Given the description of an element on the screen output the (x, y) to click on. 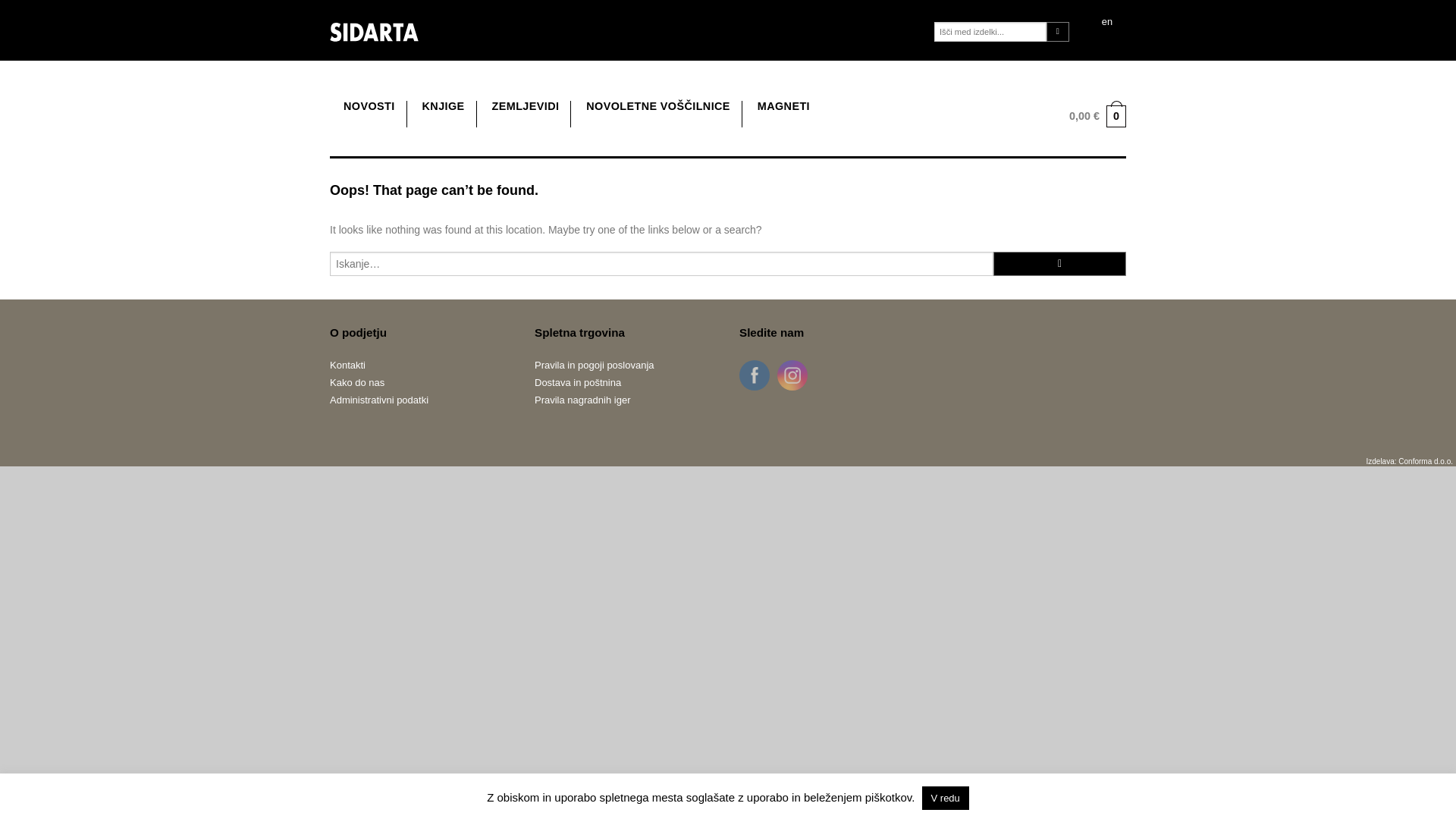
ZEMLJEVIDI (525, 105)
Pravila nagradnih iger (625, 399)
Kontakti (421, 364)
Facebook (753, 375)
Pravila in pogoji poslovanja (625, 364)
Administrativni podatki (421, 399)
MAGNETI (783, 105)
NOVOSTI (368, 105)
Kako do nas (421, 382)
en (1106, 22)
KNJIGE (443, 105)
